Given the description of an element on the screen output the (x, y) to click on. 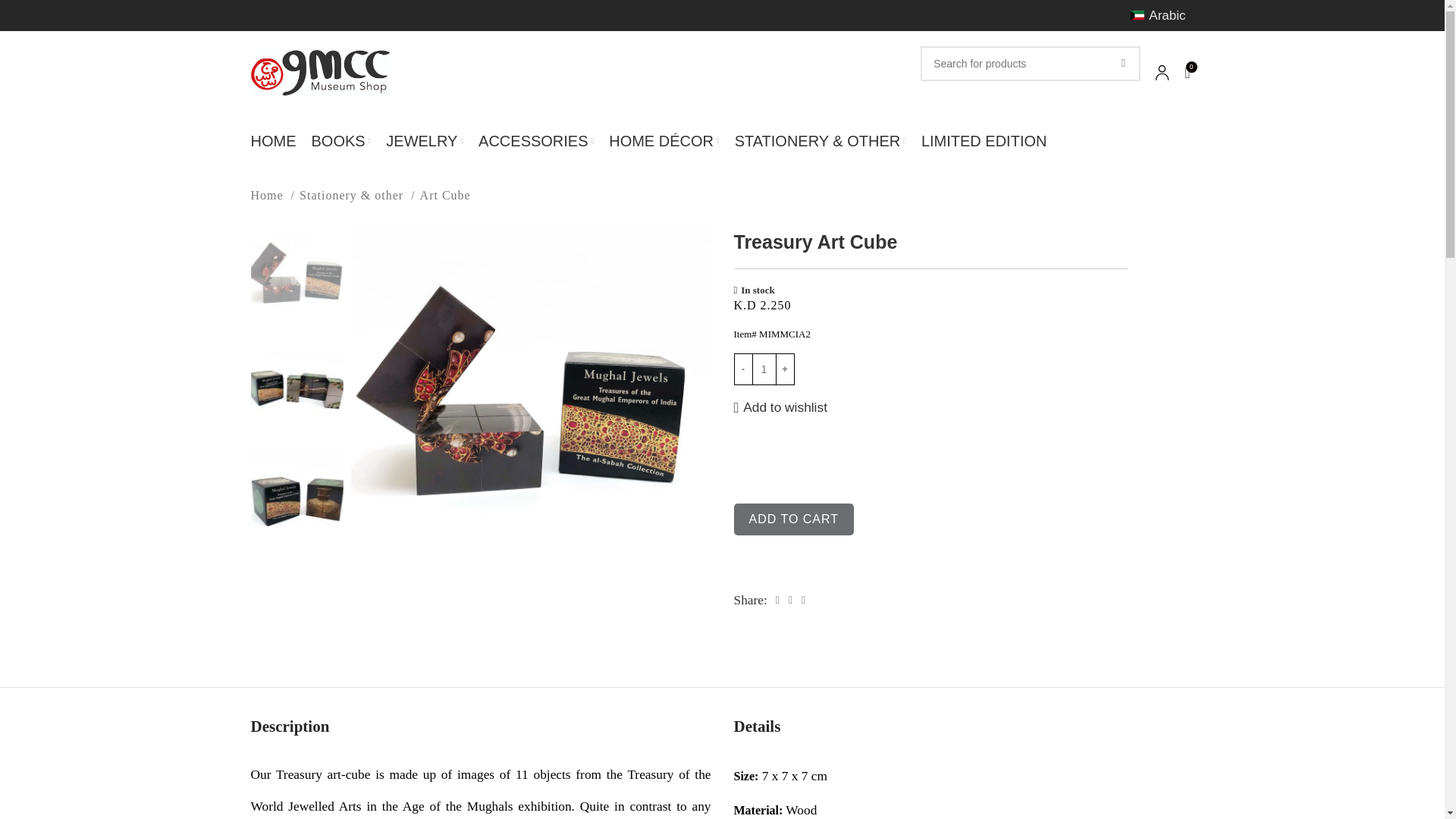
JEWELRY (424, 141)
- (742, 368)
SEARCH (1122, 63)
BOOKS (341, 141)
1 (763, 368)
HOME (272, 141)
ACCESSORIES (536, 141)
Shopping cart (1186, 72)
My account (1162, 72)
Search for products (1030, 63)
Arabic (1157, 14)
0 (1186, 72)
